Given the description of an element on the screen output the (x, y) to click on. 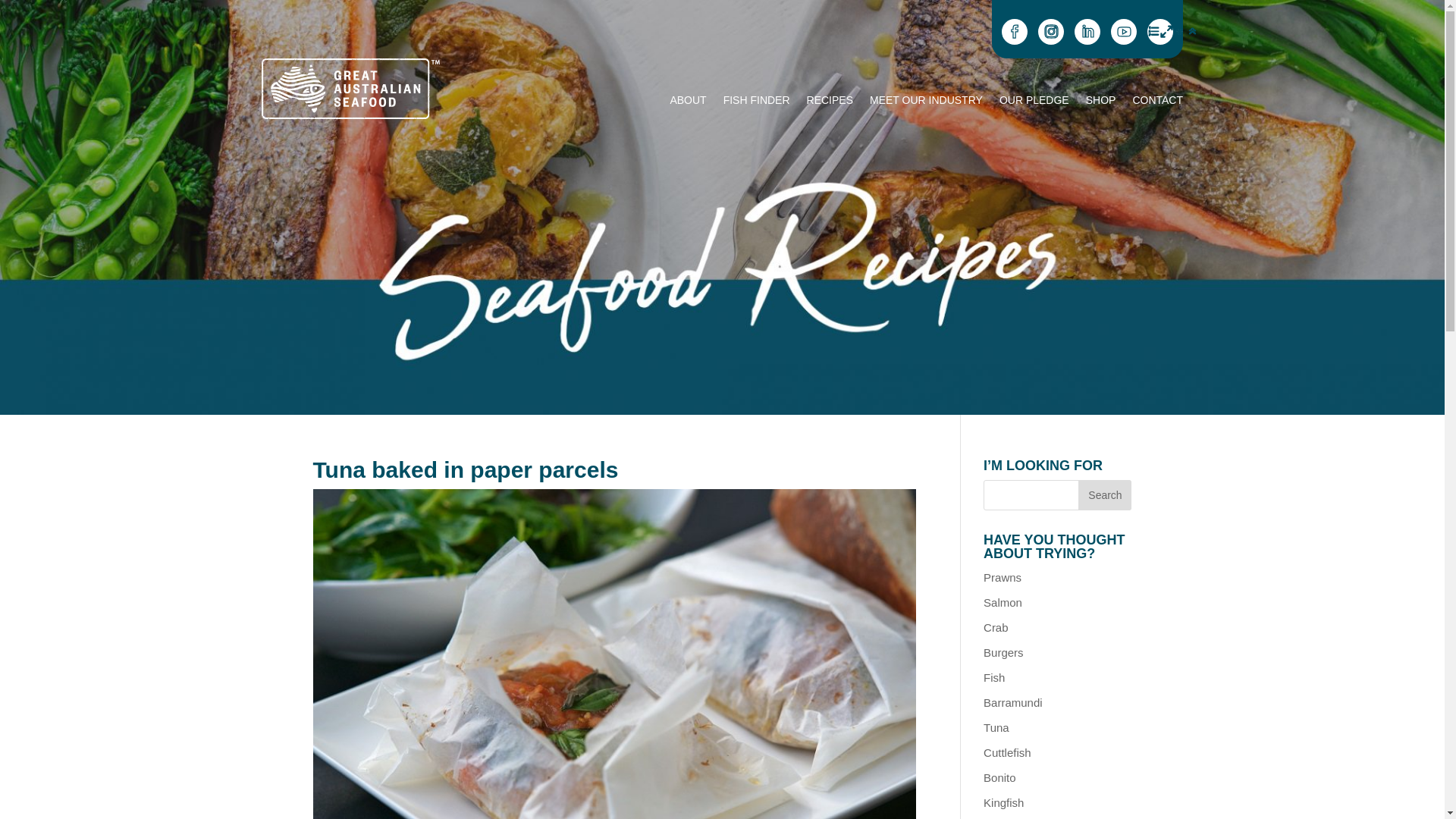
Search Element type: text (1104, 495)
Crab Element type: text (995, 627)
Follow on LinkedIn Element type: hover (1087, 31)
SHOP Element type: text (1100, 102)
Barramundi Element type: text (1012, 702)
MEET OUR INDUSTRY Element type: text (925, 102)
Follow on Facebook Element type: hover (1014, 31)
Email Us Element type: hover (1160, 31)
Salmon Element type: text (1002, 602)
RECIPES Element type: text (829, 102)
Burgers Element type: text (1003, 652)
GAS_Logo_WEB Element type: hover (350, 88)
Cuttlefish Element type: text (1007, 752)
OUR PLEDGE Element type: text (1034, 102)
CONTACT Element type: text (1157, 102)
AUSTRALIA_SEAFOOD_header_SR Element type: hover (722, 207)
Follow on Youtube Element type: hover (1123, 31)
FISH FINDER Element type: text (756, 102)
Bonito Element type: text (999, 777)
Follow on Instagram Element type: hover (1050, 31)
ABOUT Element type: text (687, 102)
Kingfish Element type: text (1003, 802)
Prawns Element type: text (1002, 577)
Fish Element type: text (993, 677)
Tuna Element type: text (996, 727)
